Given the description of an element on the screen output the (x, y) to click on. 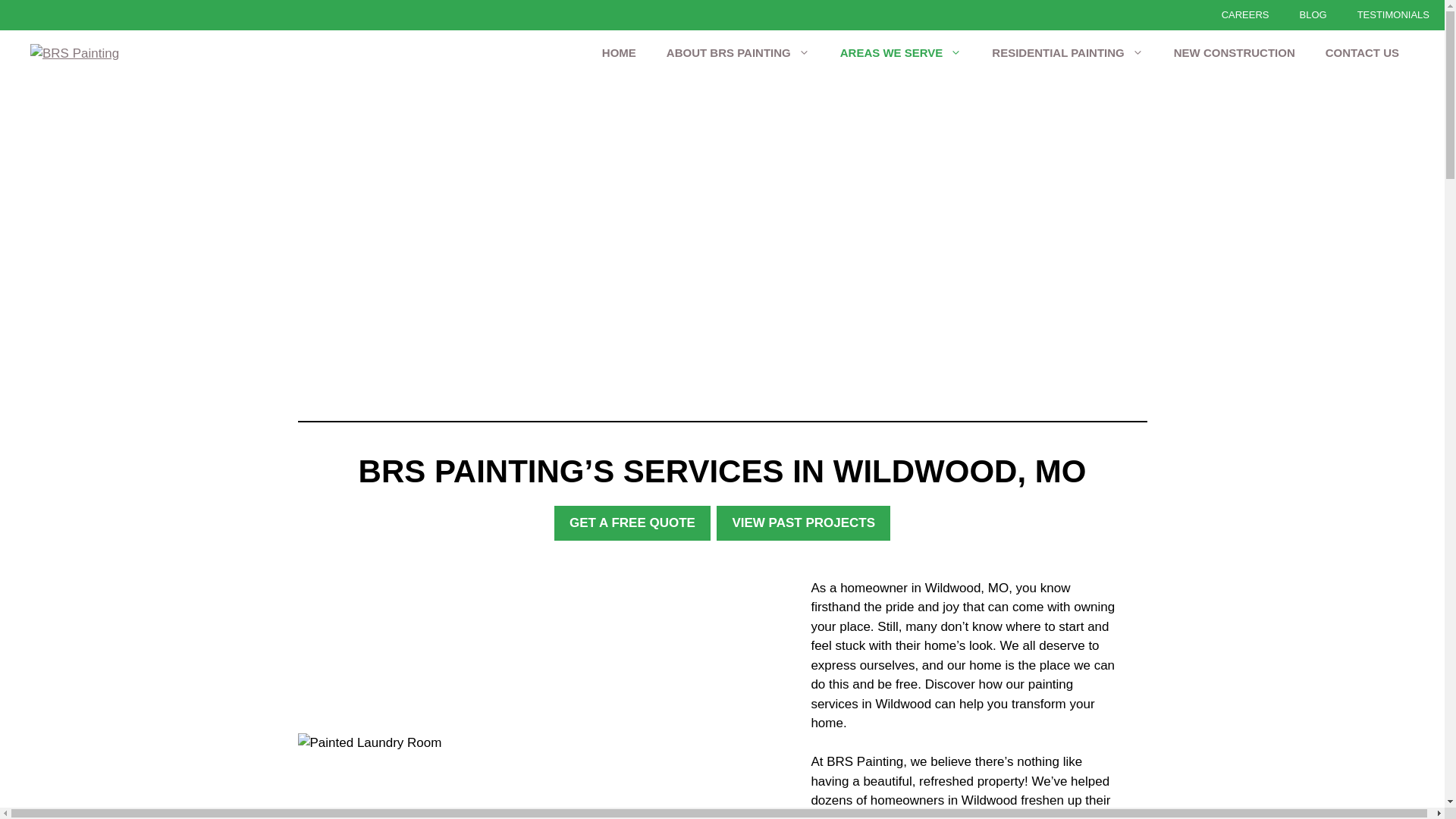
AREAS WE SERVE (900, 53)
ABOUT BRS PAINTING (737, 53)
CONTACT US (1361, 53)
RESIDENTIAL PAINTING (1066, 53)
CAREERS (1245, 15)
BLOG (1313, 15)
NEW CONSTRUCTION (1234, 53)
HOME (618, 53)
GET A FREE QUOTE (632, 523)
TESTIMONIALS (1393, 15)
